Given the description of an element on the screen output the (x, y) to click on. 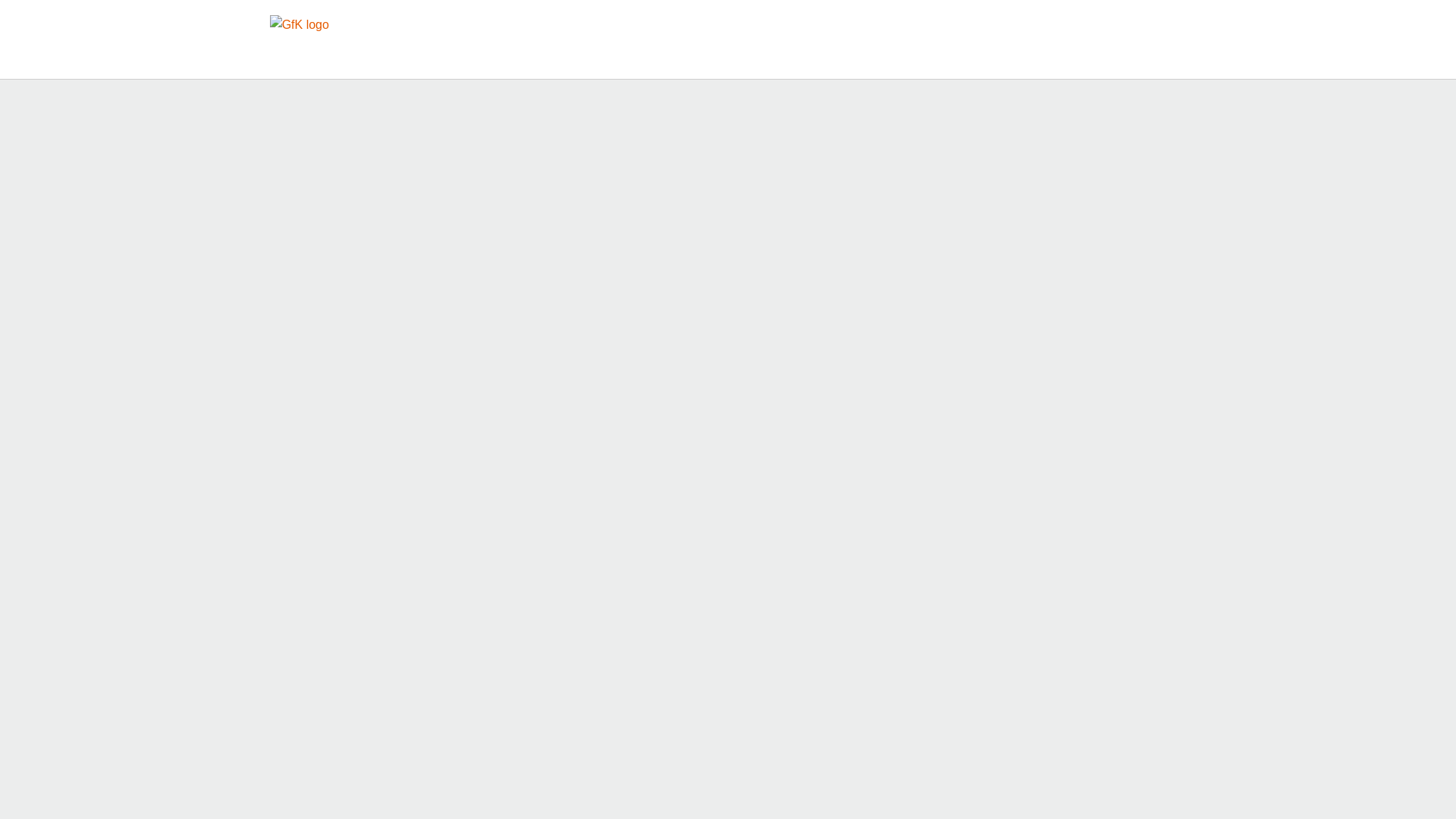
GfK logo (299, 27)
